Given the description of an element on the screen output the (x, y) to click on. 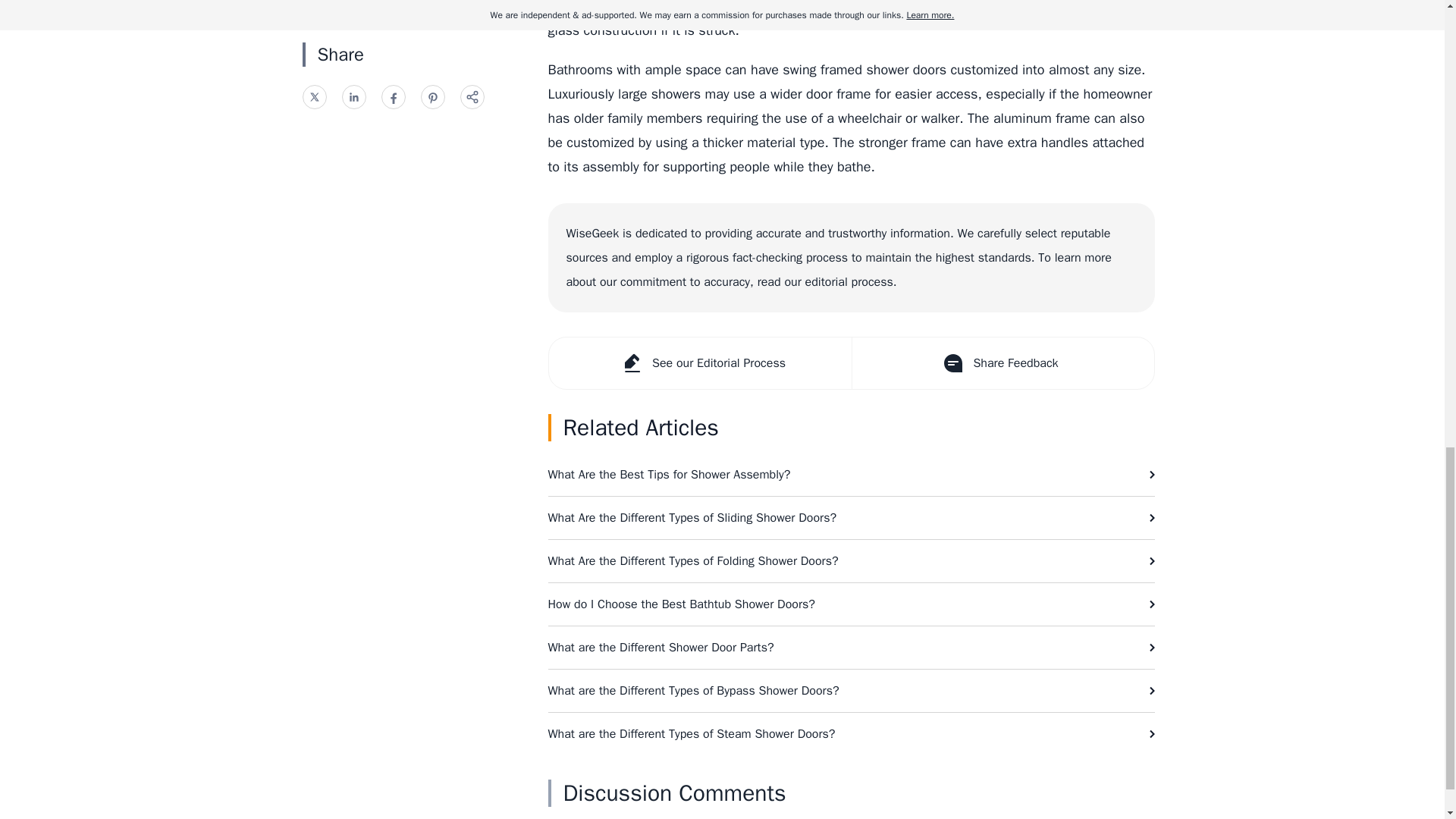
What Are the Best Tips for Shower Assembly? (850, 474)
How do I Choose the Best Bathtub Shower Doors? (850, 604)
What are the Different Types of Bypass Shower Doors? (850, 690)
What Are the Different Types of Folding Shower Doors? (850, 560)
What are the Different Shower Door Parts? (850, 647)
See our Editorial Process (699, 363)
Share Feedback (1001, 363)
What Are the Different Types of Sliding Shower Doors? (850, 517)
What are the Different Types of Steam Shower Doors? (850, 733)
